Given the description of an element on the screen output the (x, y) to click on. 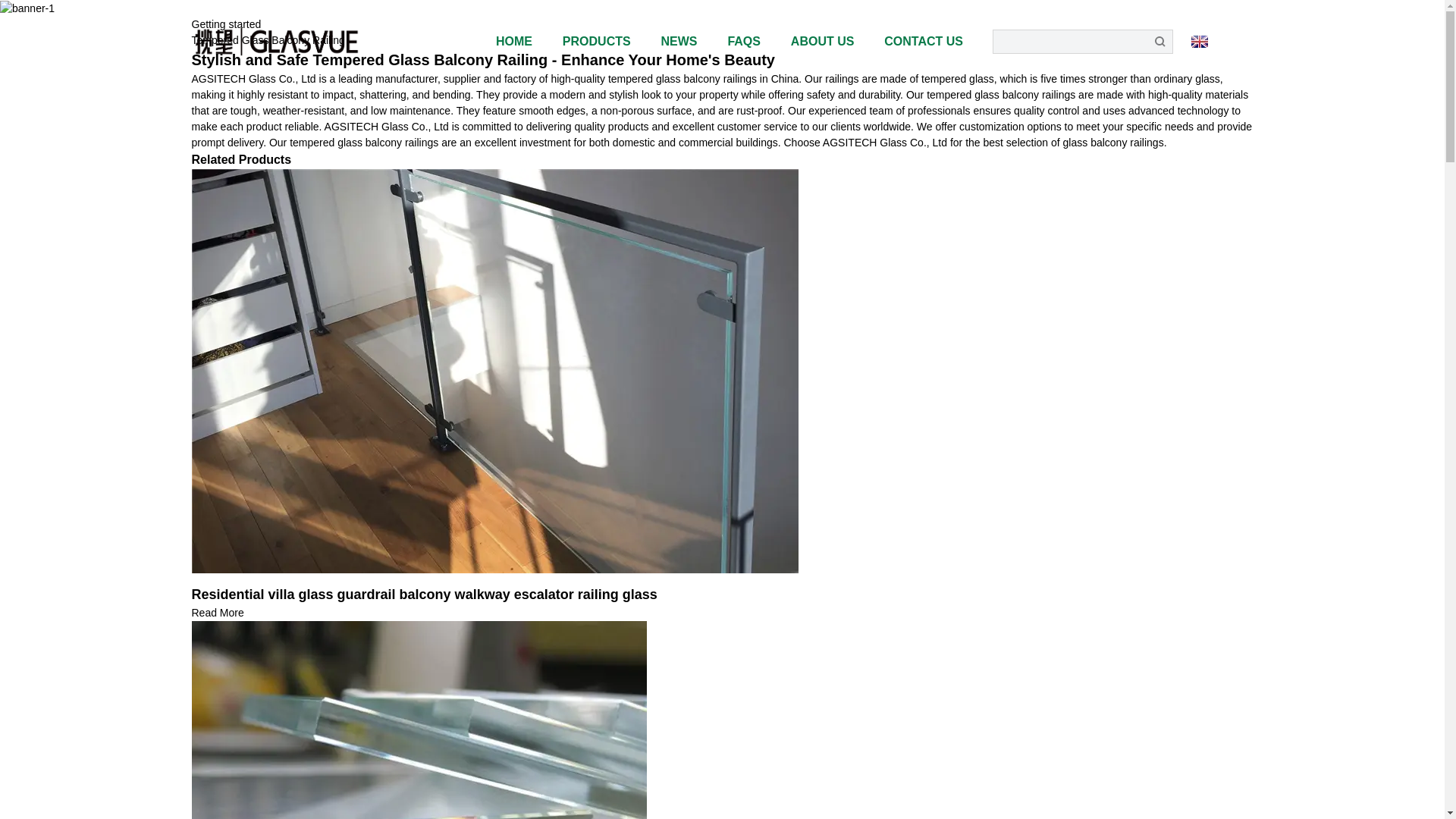
Getting started (225, 24)
English (1220, 41)
Read More (216, 612)
NEWS (679, 41)
ABOUT US (822, 41)
FAQS (743, 41)
CONTACT US (916, 41)
HOME (513, 41)
PRODUCTS (596, 41)
Tempered Glass Balcony Railing (266, 39)
